Given the description of an element on the screen output the (x, y) to click on. 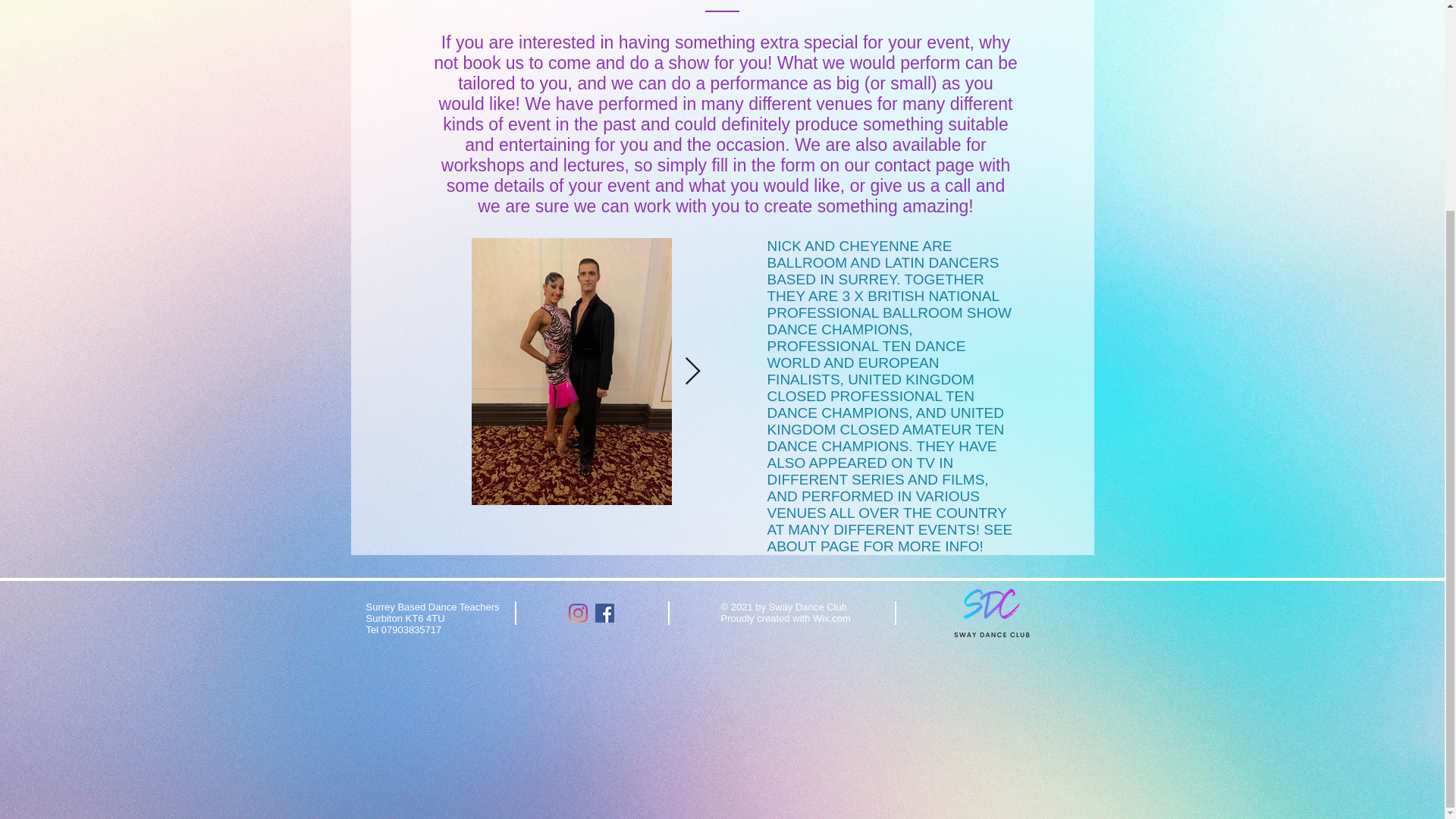
Color logo - no background.png (991, 612)
Wix.com (831, 618)
Facebook Like (1043, 613)
